Given the description of an element on the screen output the (x, y) to click on. 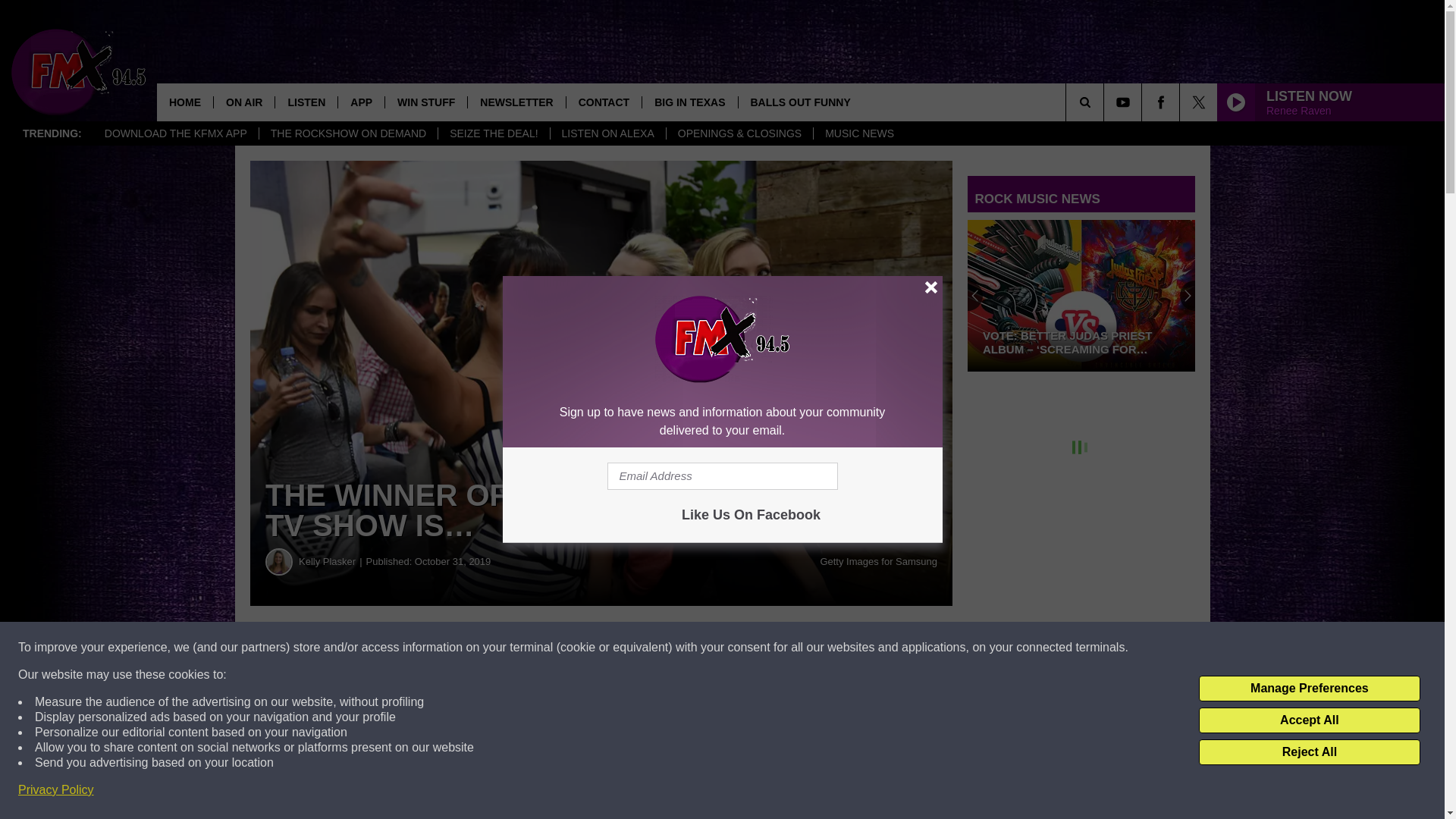
THE ROCKSHOW ON DEMAND (348, 133)
MUSIC NEWS (858, 133)
Email Address (722, 475)
ON AIR (243, 102)
WIN STUFF (425, 102)
LISTEN ON ALEXA (607, 133)
Privacy Policy (55, 789)
Reject All (1309, 751)
TRENDING: (52, 133)
SEARCH (1106, 102)
Share on Facebook (460, 647)
APP (360, 102)
Accept All (1309, 720)
Manage Preferences (1309, 688)
SEARCH (1106, 102)
